Given the description of an element on the screen output the (x, y) to click on. 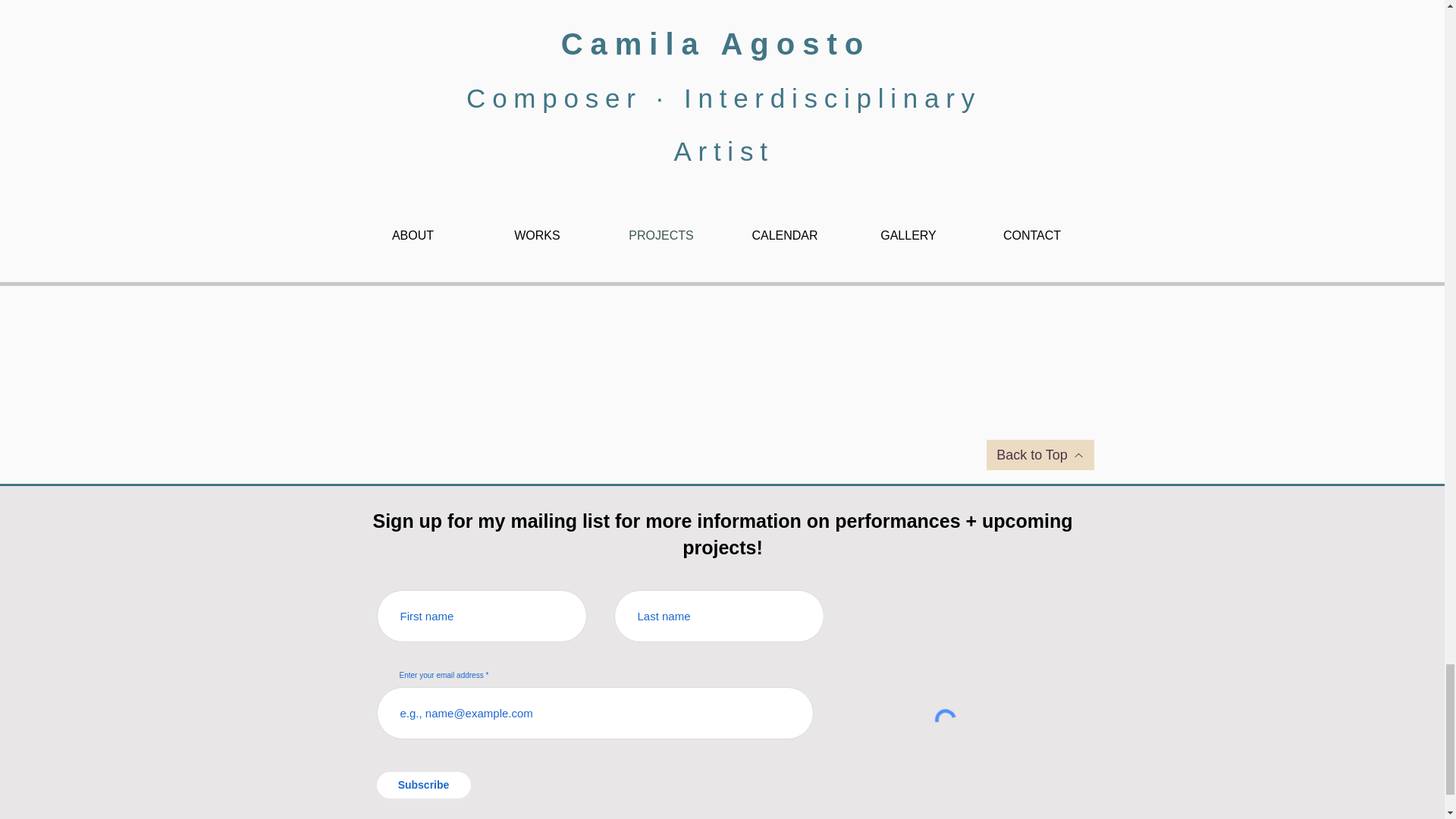
Back to Top (1039, 454)
Subscribe (422, 785)
